Given the description of an element on the screen output the (x, y) to click on. 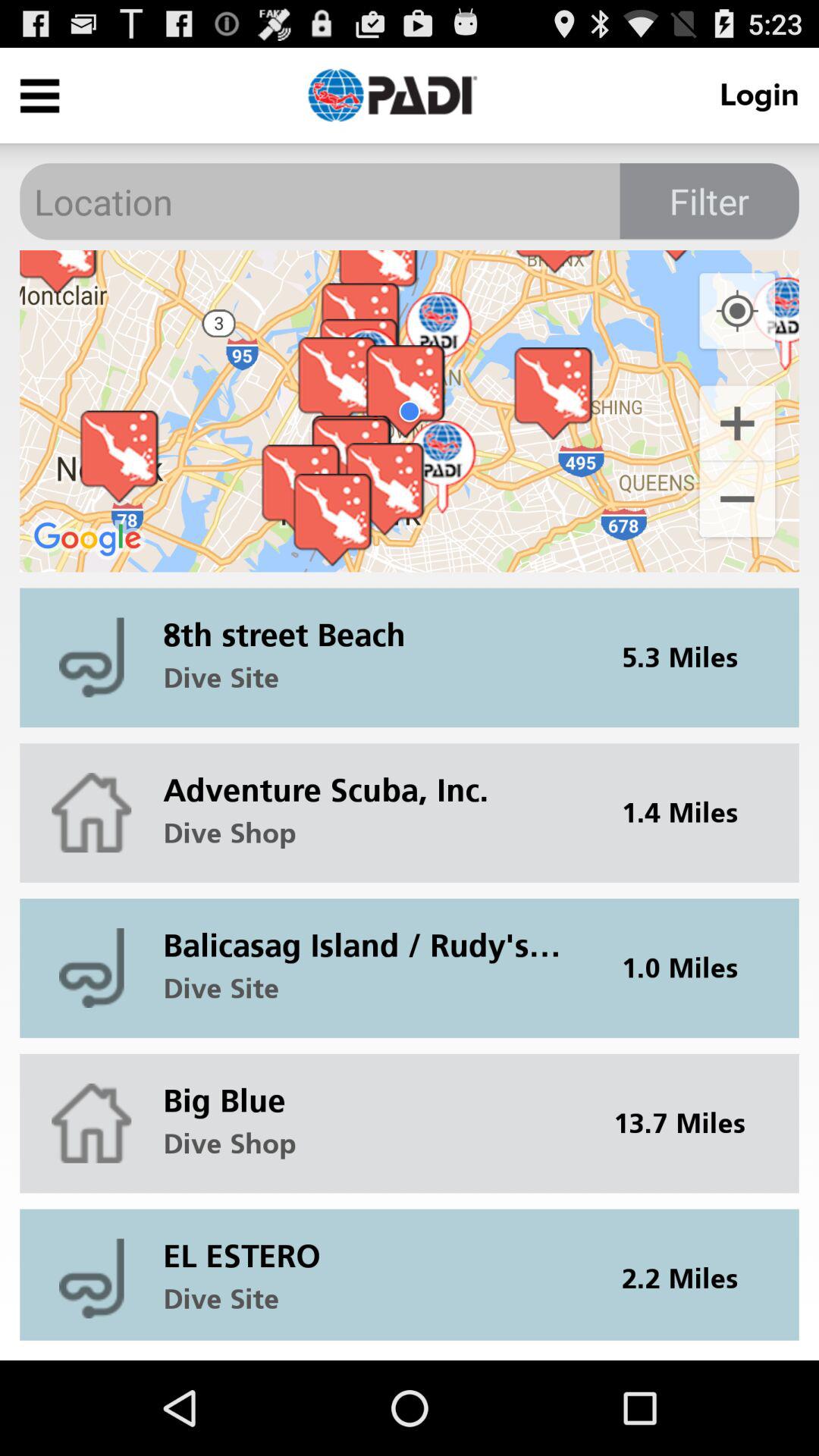
open the item to the left of 1.0 miles (371, 933)
